Given the description of an element on the screen output the (x, y) to click on. 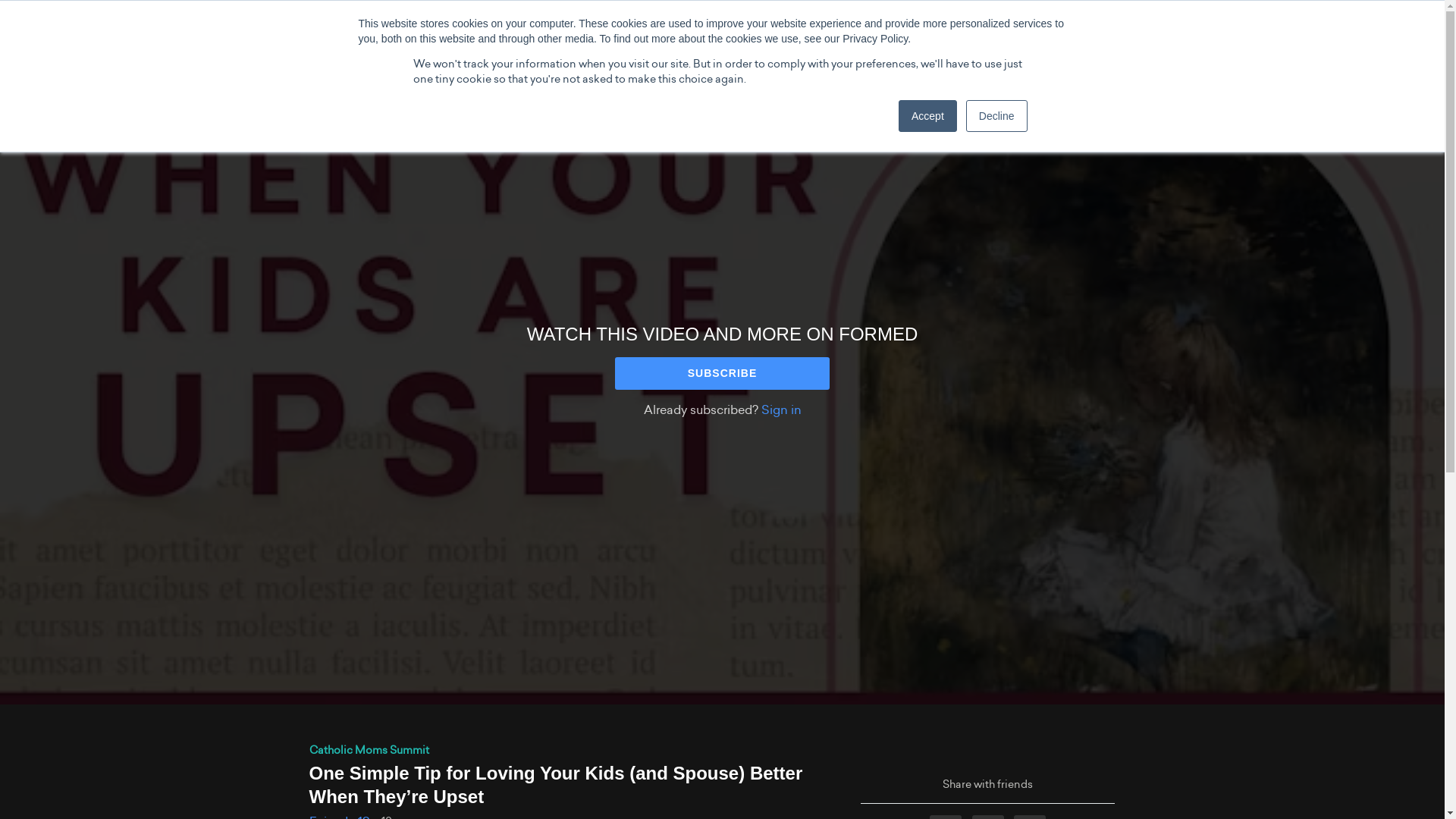
Accept (927, 115)
Skip to main content (53, 7)
Decline (996, 115)
HOME (219, 24)
AUDIO (384, 24)
